Given the description of an element on the screen output the (x, y) to click on. 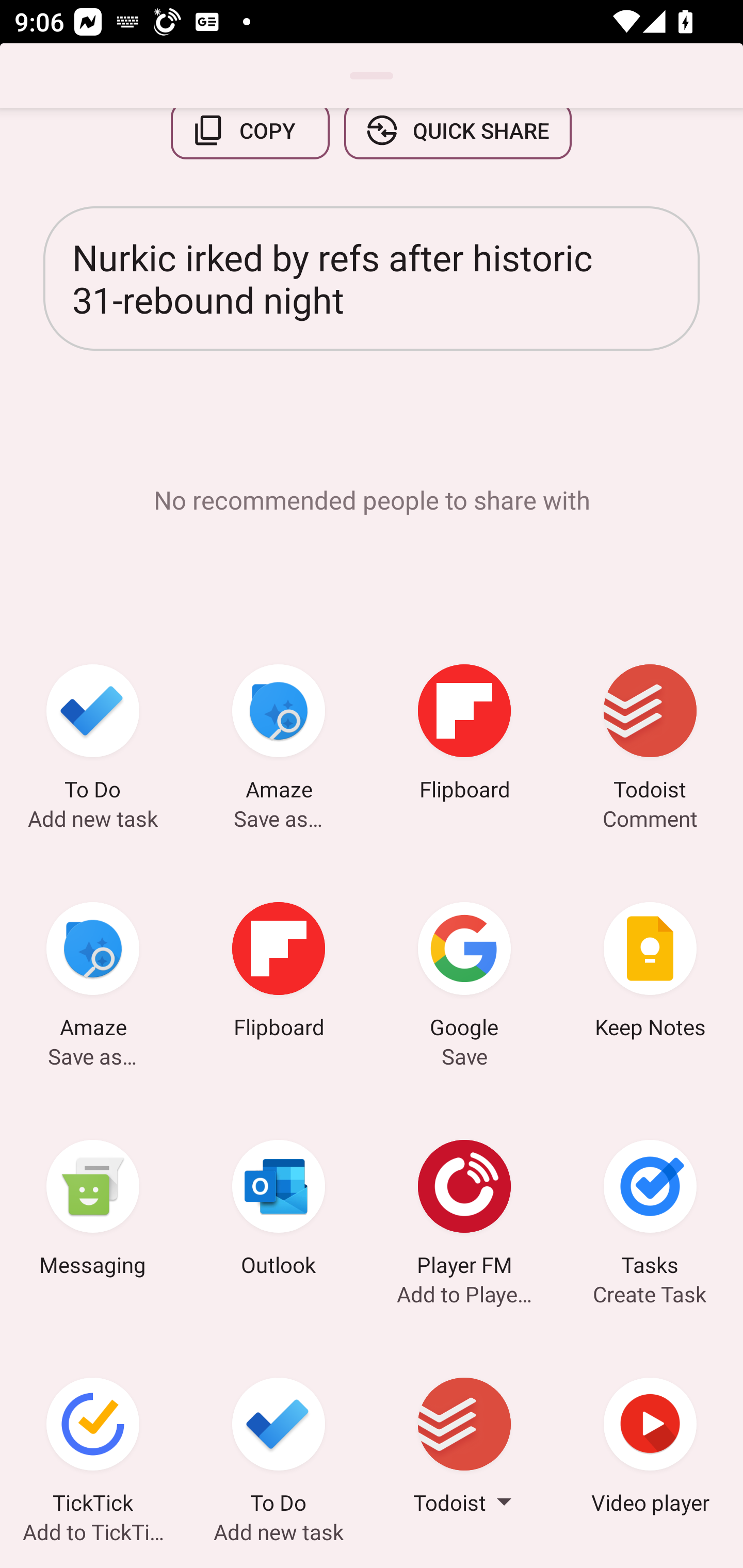
COPY (249, 141)
QUICK SHARE (457, 141)
To Do Add new task (92, 735)
Amaze Save as… (278, 735)
Flipboard (464, 735)
Todoist Comment (650, 735)
Amaze Save as… (92, 973)
Flipboard (278, 973)
Google Save (464, 973)
Keep Notes (650, 973)
Messaging (92, 1210)
Outlook (278, 1210)
Player FM Add to Player FM (464, 1210)
Tasks Create Task (650, 1210)
TickTick Add to TickTick (92, 1448)
To Do Add new task (278, 1448)
Todoist (464, 1448)
Video player (650, 1448)
